Given the description of an element on the screen output the (x, y) to click on. 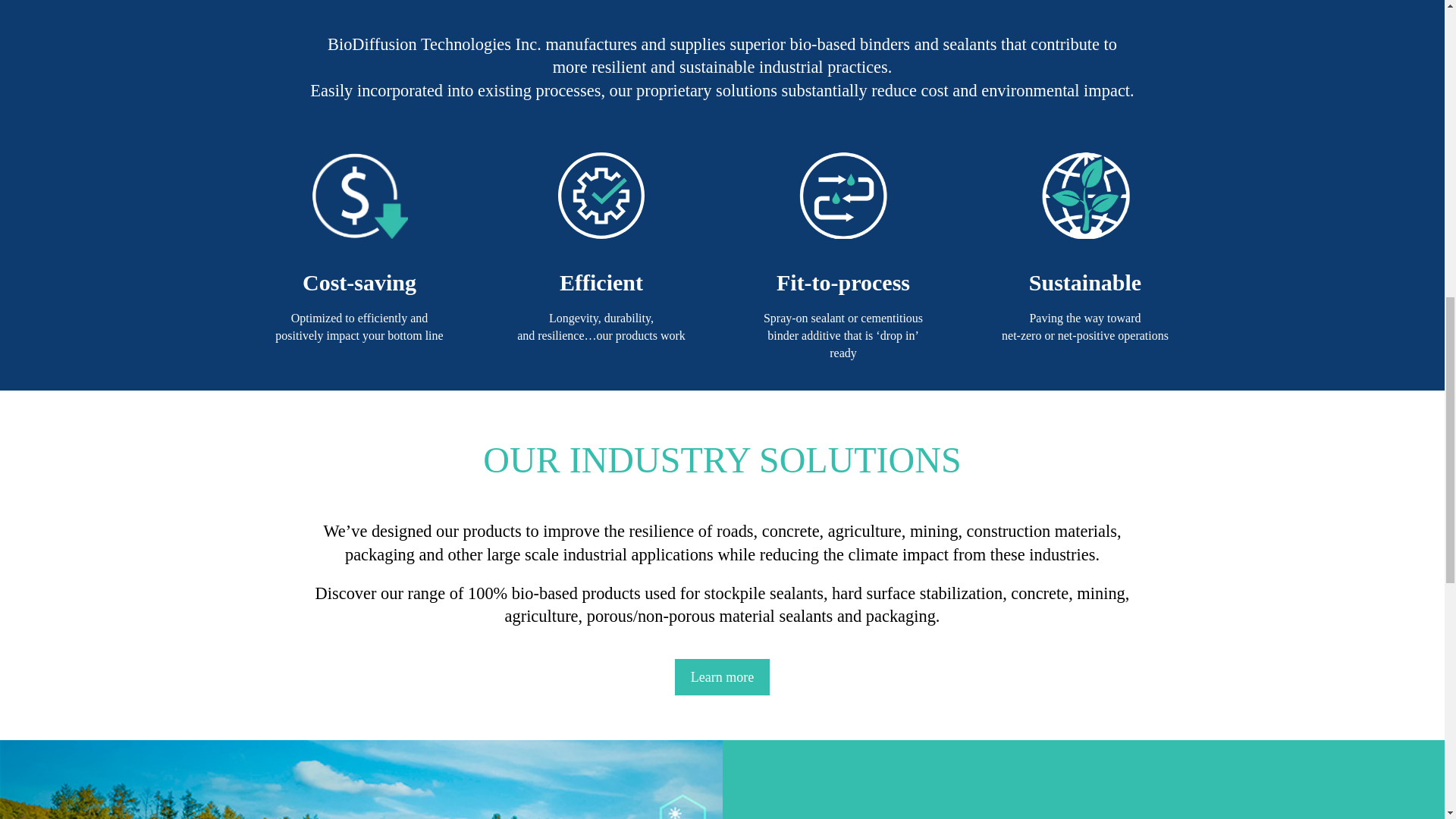
Learn more (722, 677)
